Given the description of an element on the screen output the (x, y) to click on. 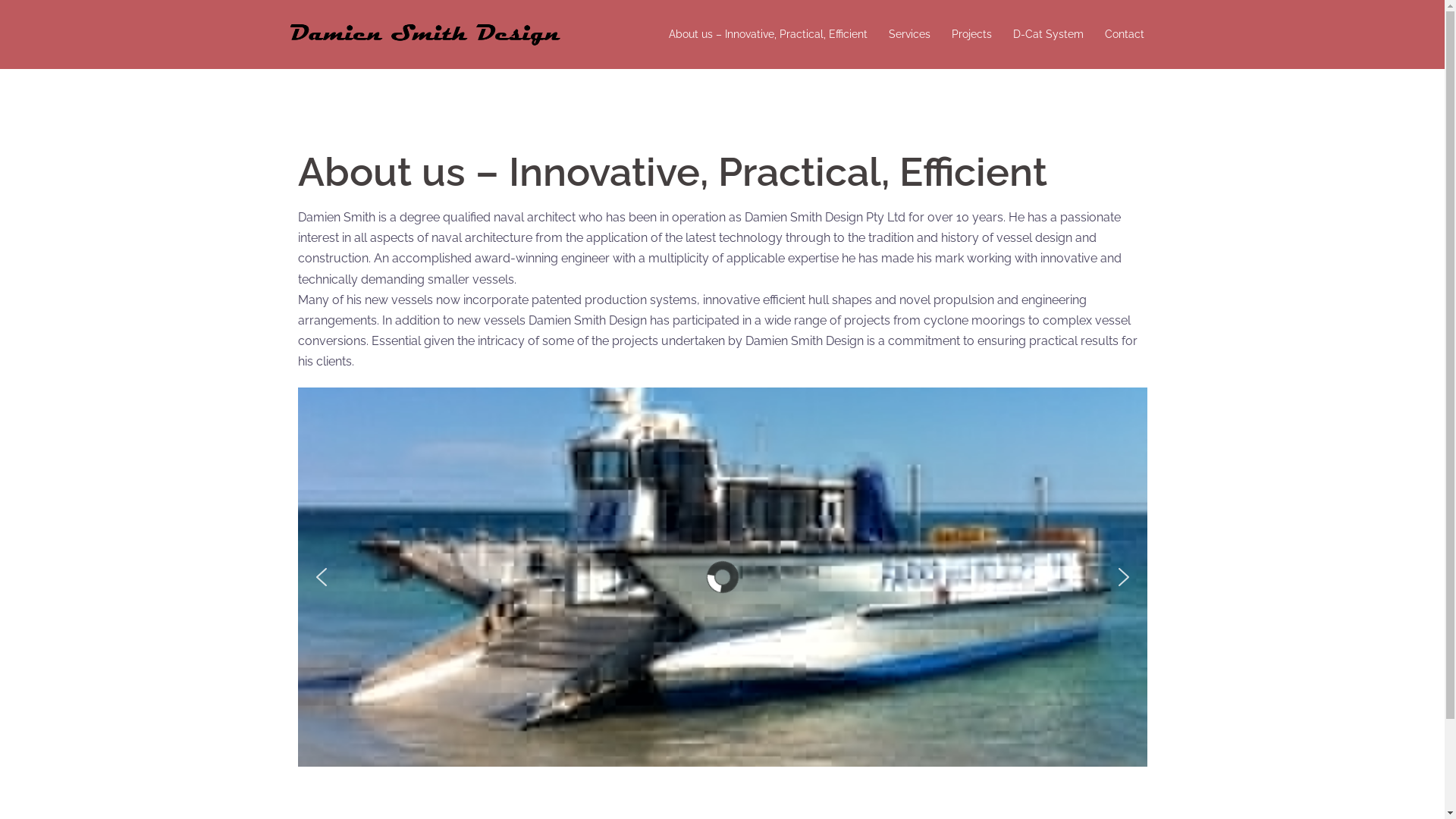
D-Cat System Element type: text (1048, 34)
Projects Element type: text (970, 34)
Damien Smith Design Element type: hover (425, 33)
Services Element type: text (909, 34)
Contact Element type: text (1123, 34)
